Given the description of an element on the screen output the (x, y) to click on. 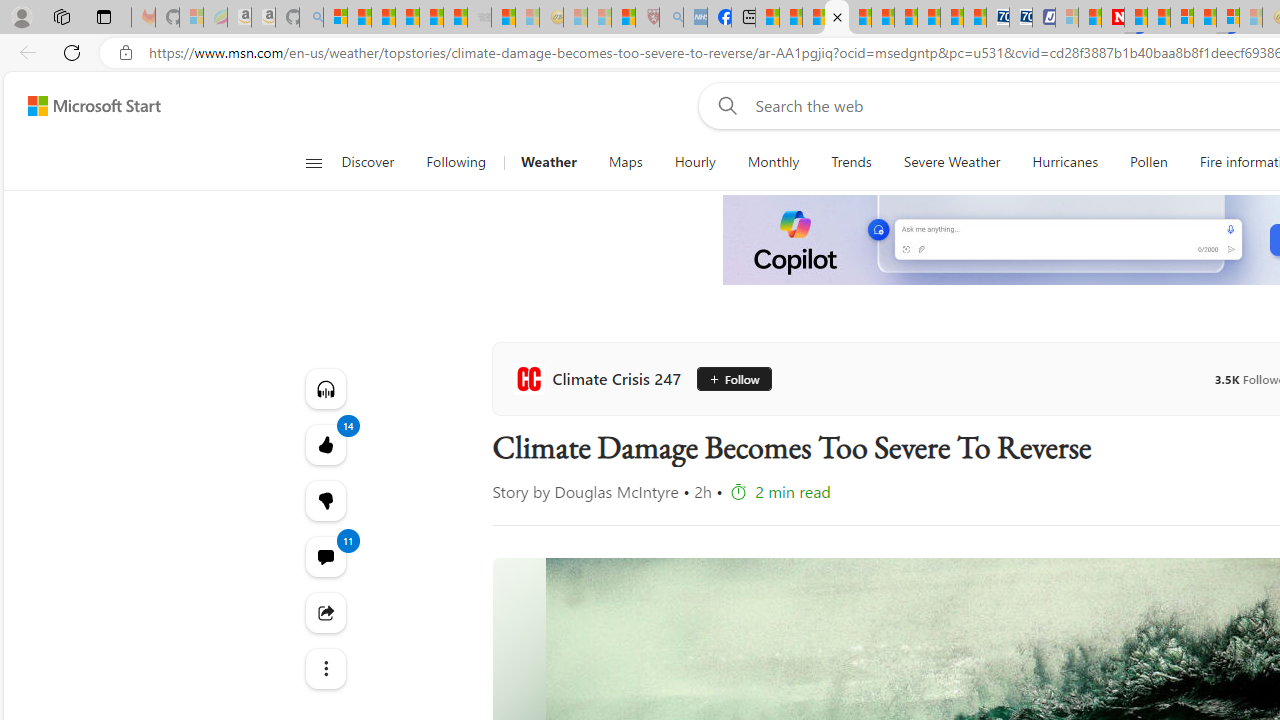
The Weather Channel - MSN (383, 17)
View comments 11 Comment (324, 556)
Follow (735, 378)
Listen to this article (324, 388)
14 Like (324, 444)
